Given the description of an element on the screen output the (x, y) to click on. 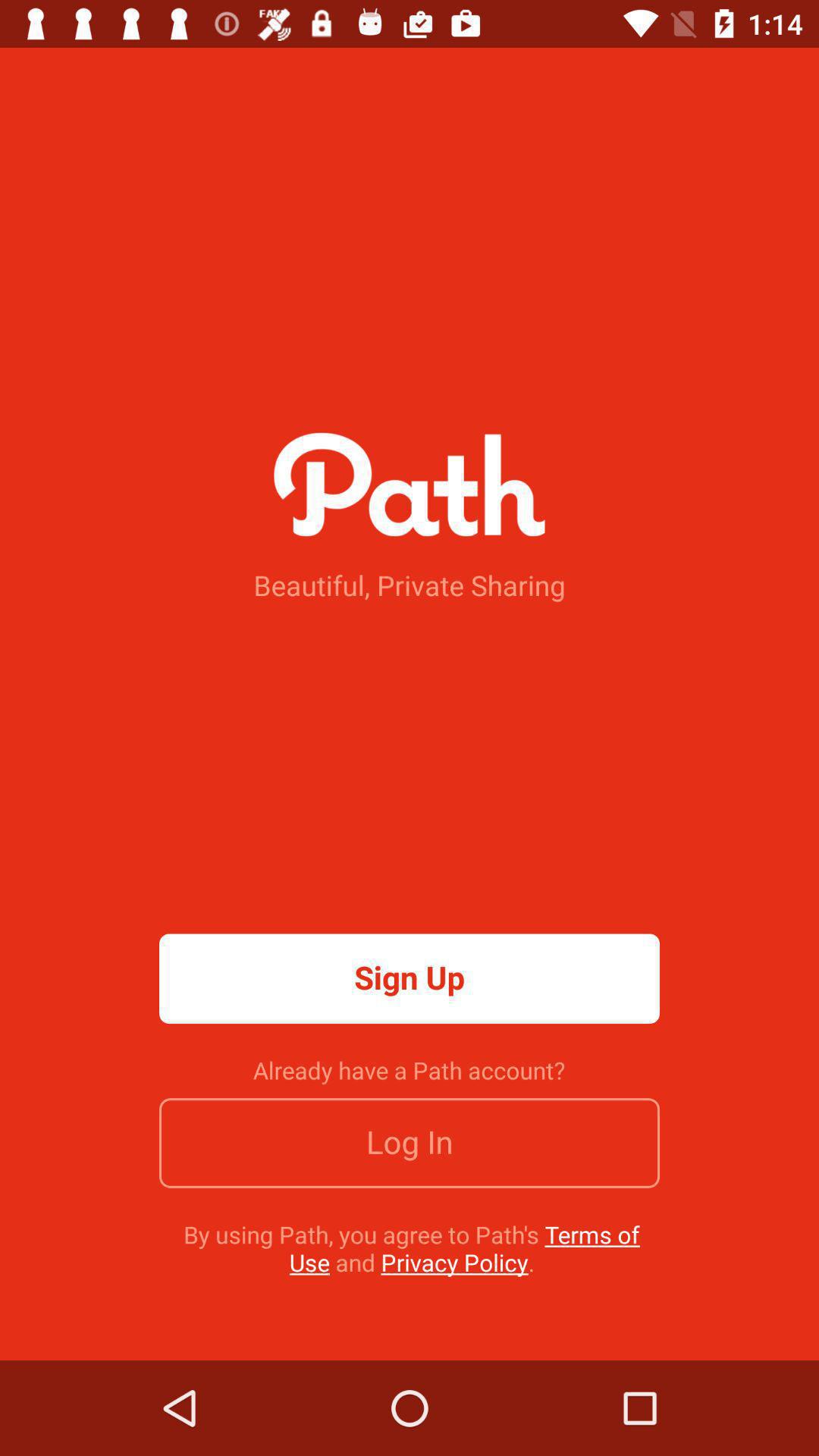
click by using path icon (411, 1248)
